Given the description of an element on the screen output the (x, y) to click on. 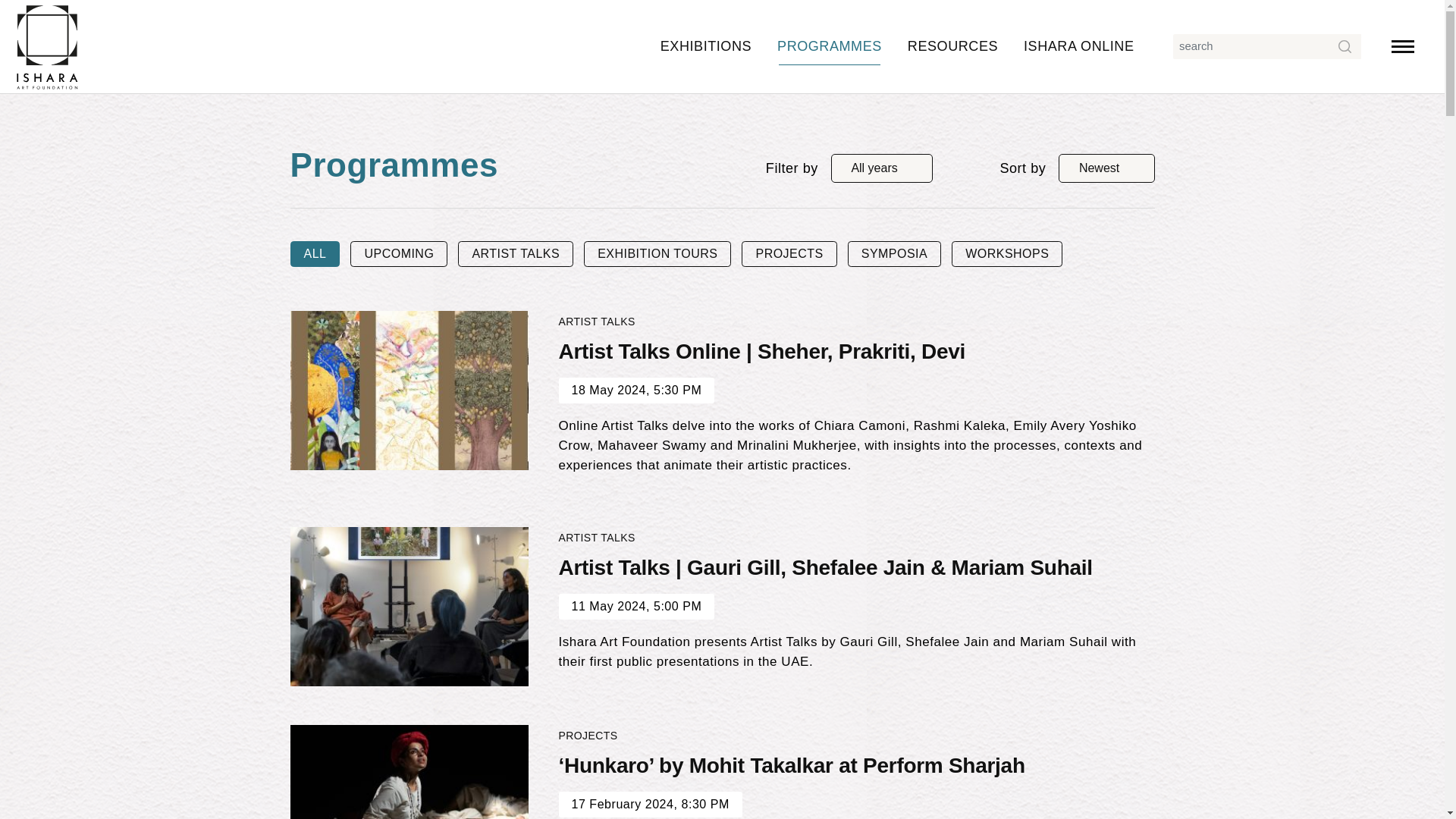
UPCOMING (398, 253)
ARTIST TALKS (595, 537)
ARTIST TALKS (515, 253)
ISHARA ONLINE (1078, 46)
RESOURCES (952, 46)
EXHIBITION TOURS (656, 253)
WORKSHOPS (1007, 253)
PROGRAMMES (829, 46)
PROJECTS (587, 735)
EXHIBITIONS (705, 46)
ALL (314, 253)
ARTIST TALKS (595, 321)
PROJECTS (788, 253)
SYMPOSIA (893, 253)
